Given the description of an element on the screen output the (x, y) to click on. 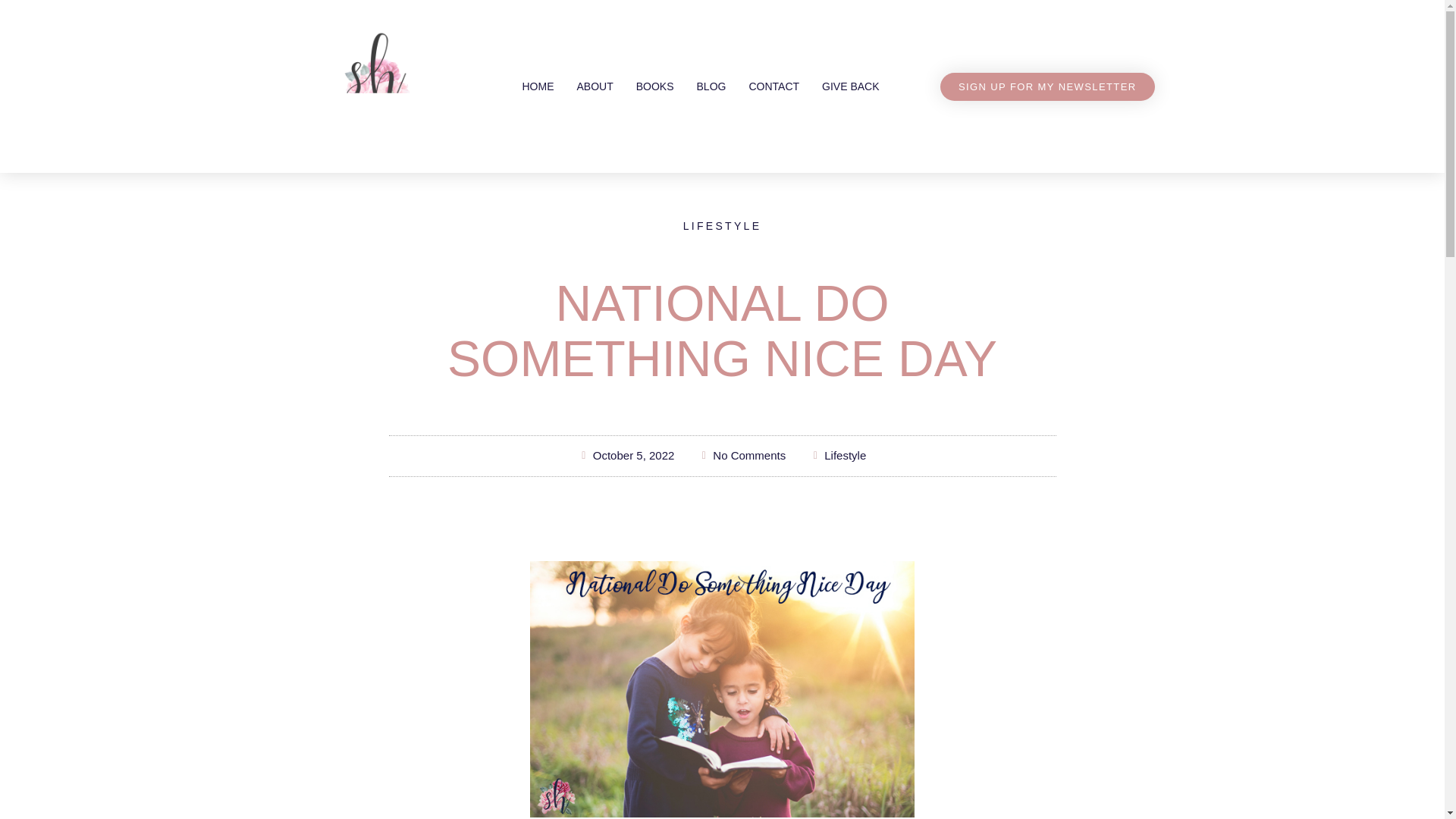
HOME (536, 85)
BOOKS (654, 85)
ABOUT (594, 85)
SIGN UP FOR MY NEWSLETTER (1047, 86)
Lifestyle (845, 454)
LIFESTYLE (721, 225)
No Comments (742, 456)
CONTACT (773, 85)
October 5, 2022 (626, 456)
GIVE BACK (849, 85)
BLOG (710, 85)
